Given the description of an element on the screen output the (x, y) to click on. 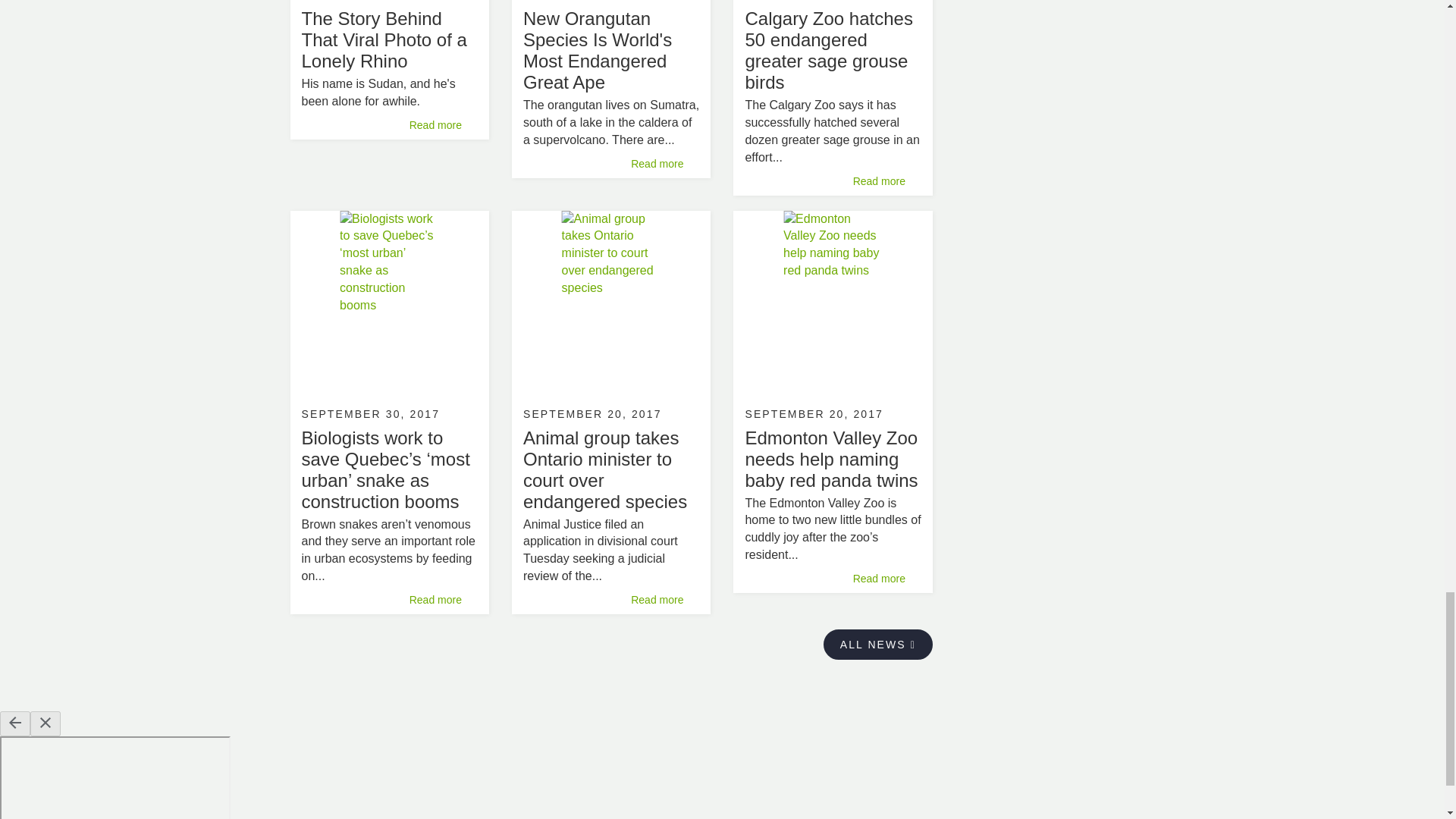
Calgary Zoo hatches 50 endangered greater sage grouse birds (828, 50)
New Orangutan Species Is World's Most Endangered Great Ape (596, 50)
The Story Behind That Viral Photo of a Lonely Rhino (384, 39)
